Given the description of an element on the screen output the (x, y) to click on. 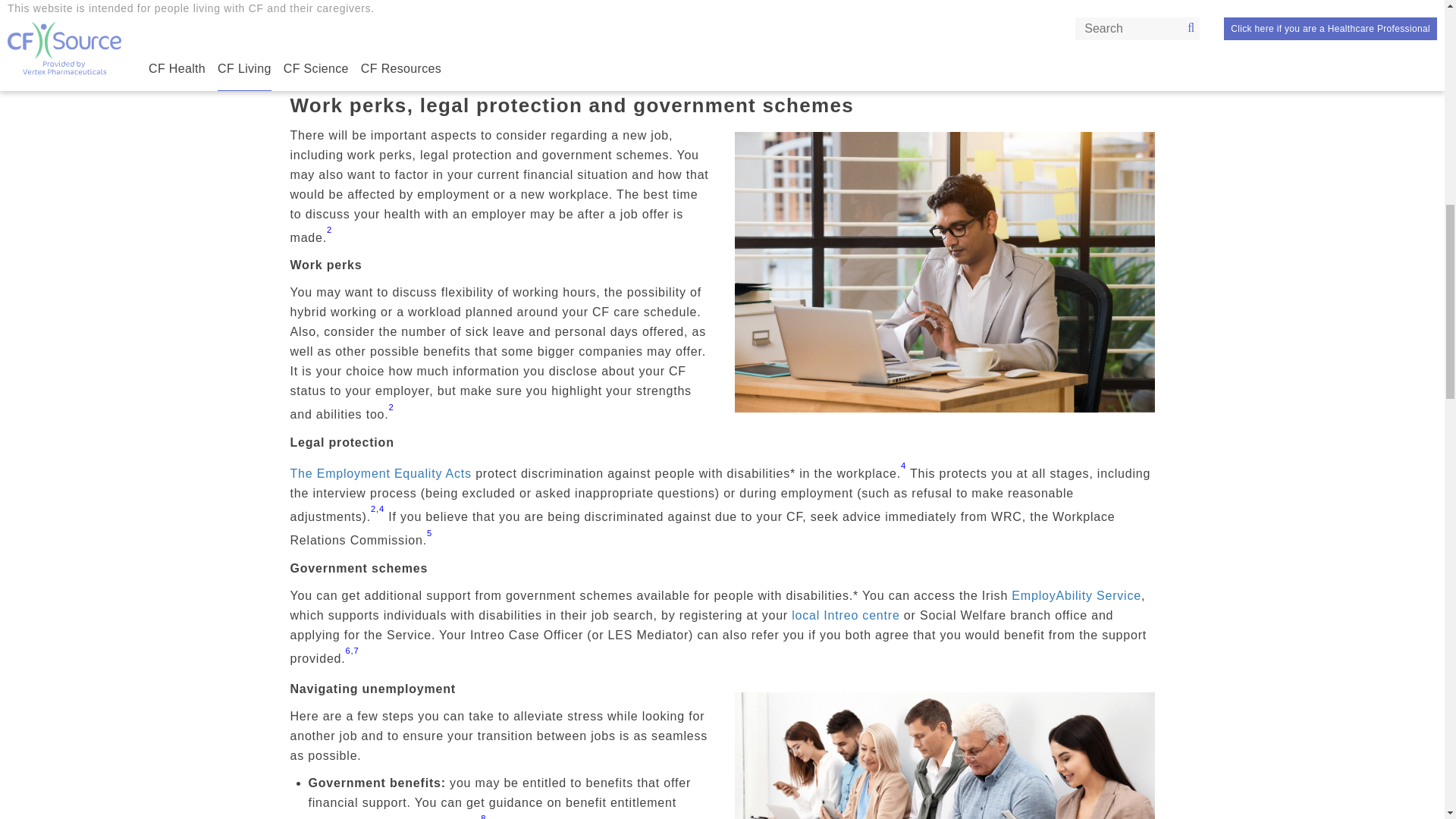
EmployAbility Service (1076, 594)
local Intreo centre (845, 615)
The Employment Equality Acts (379, 472)
